Given the description of an element on the screen output the (x, y) to click on. 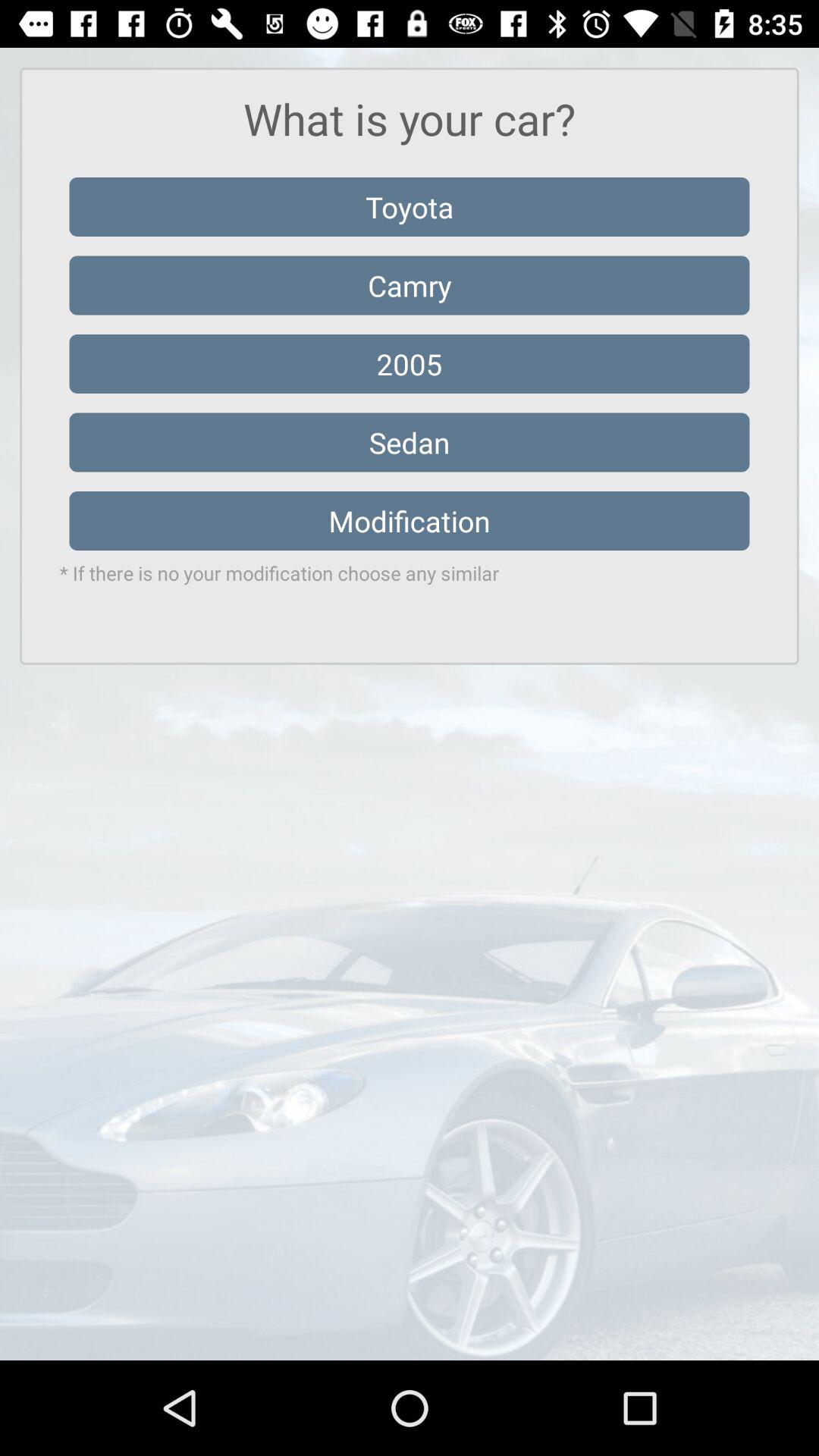
click the camry icon (409, 285)
